Given the description of an element on the screen output the (x, y) to click on. 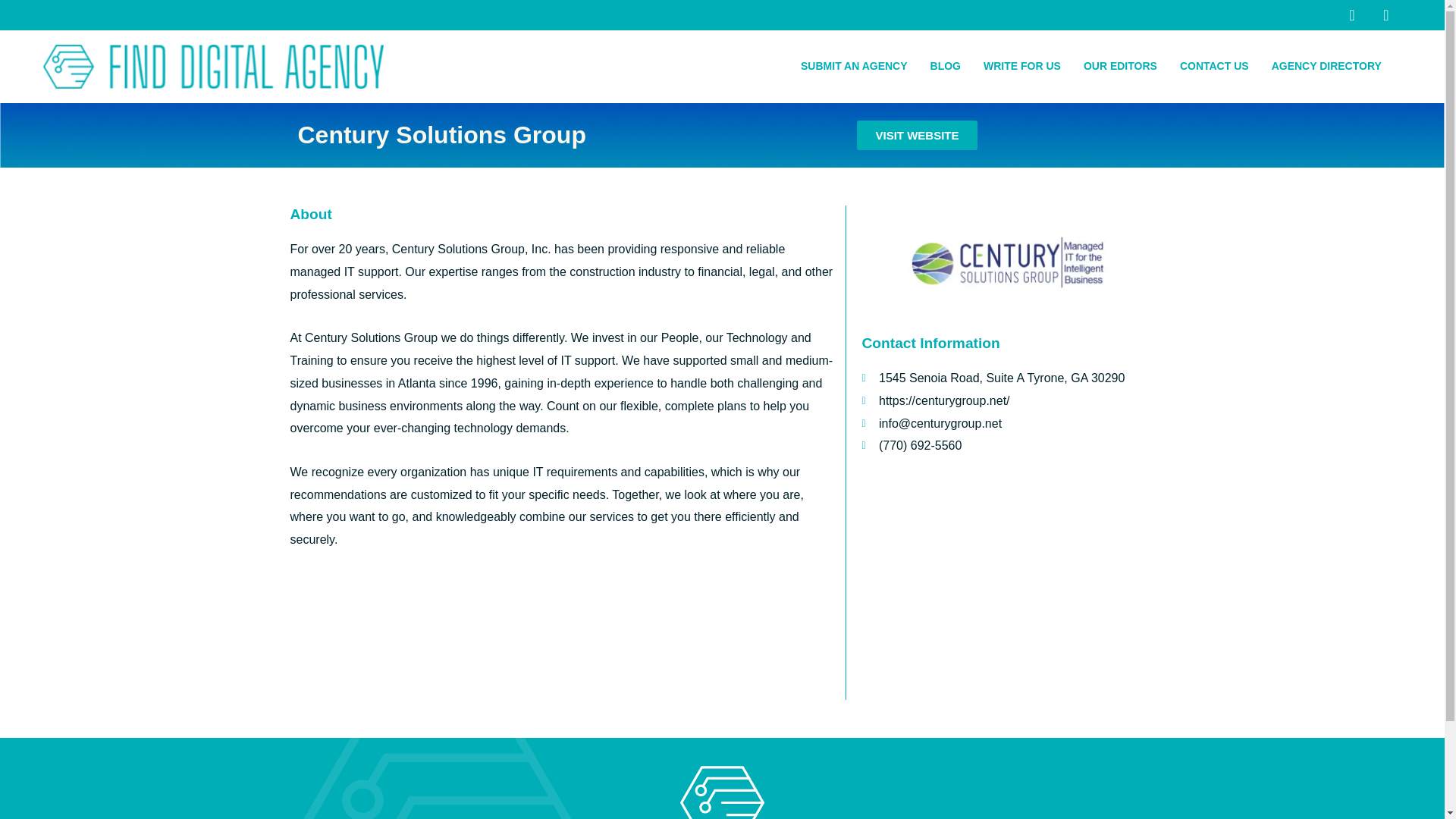
1545 Senoia Road, Suite A Tyrone, GA 30290 (1007, 586)
WRITE FOR US (1021, 66)
AGENCY DIRECTORY (1330, 66)
Asset 660 (213, 66)
Facebook (1351, 15)
Twitter (1385, 15)
BLOG (945, 66)
OUR EDITORS (1120, 66)
SUBMIT AN AGENCY (853, 66)
CONTACT US (1214, 66)
